Given the description of an element on the screen output the (x, y) to click on. 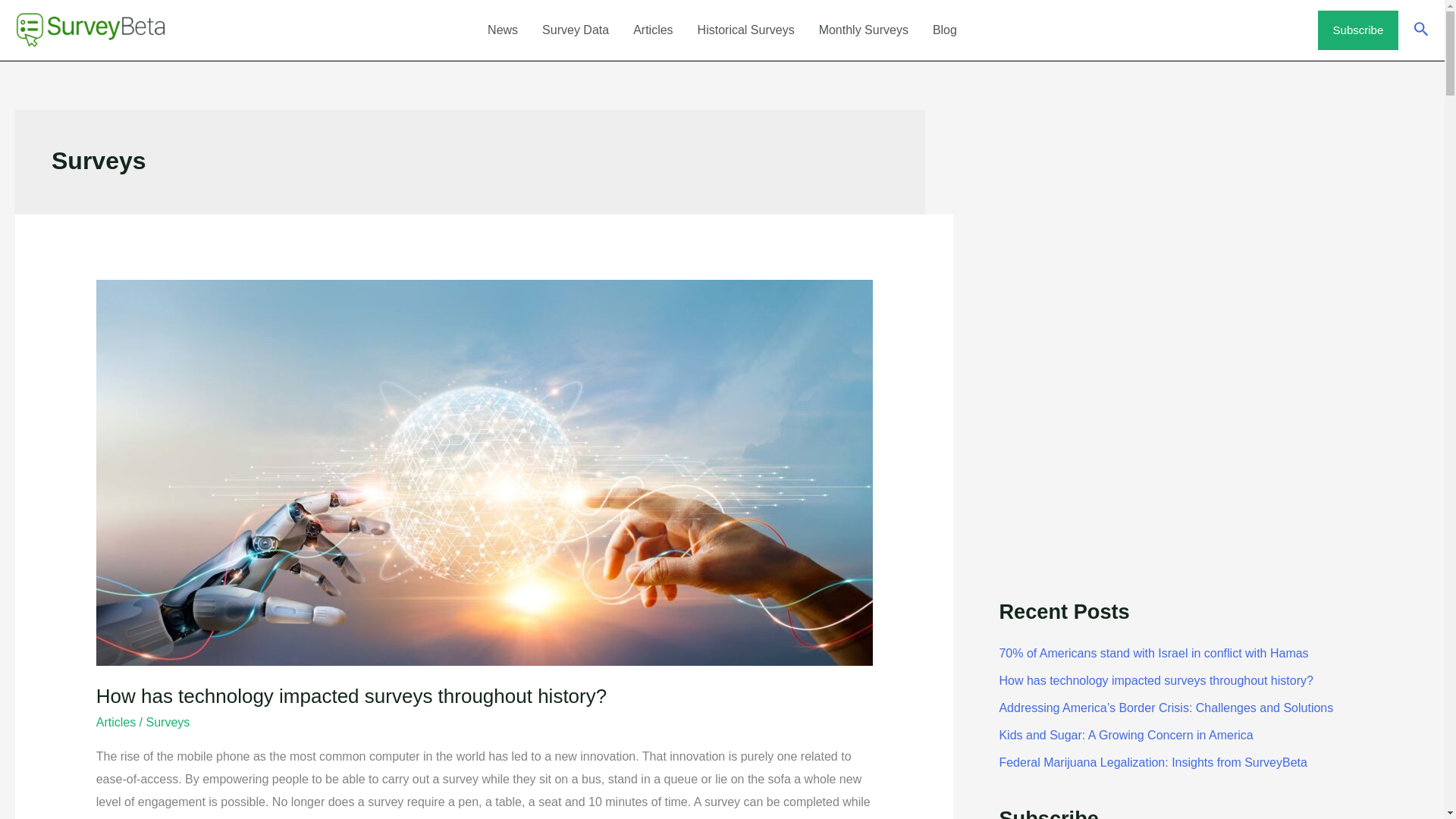
Articles (115, 721)
Survey Data (575, 30)
Monthly Surveys (863, 30)
Surveys (168, 721)
News (502, 30)
Articles (652, 30)
Historical Surveys (745, 30)
How has technology impacted surveys throughout history? (351, 695)
Subscribe (1358, 29)
